Given the description of an element on the screen output the (x, y) to click on. 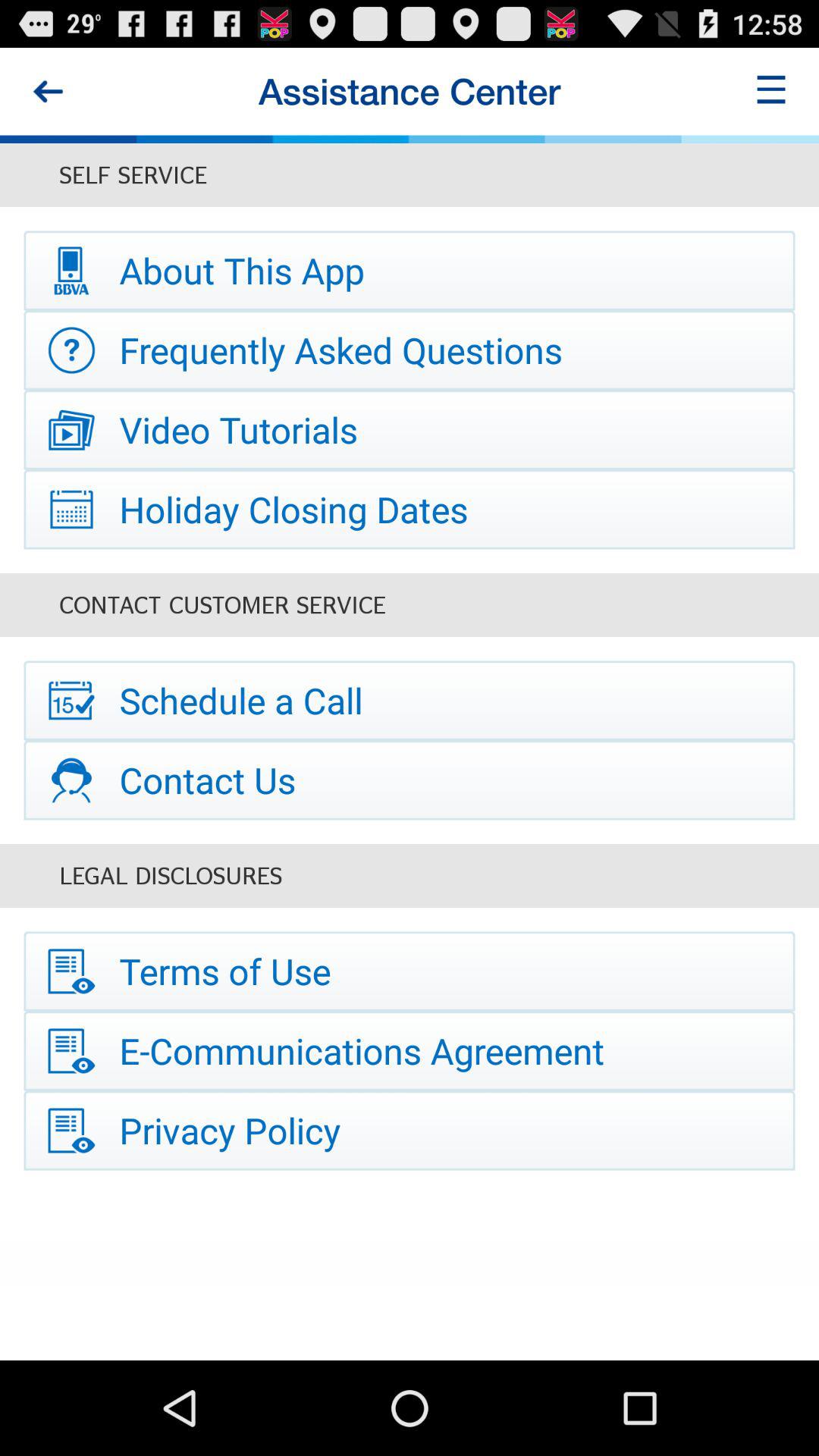
more option (771, 91)
